Given the description of an element on the screen output the (x, y) to click on. 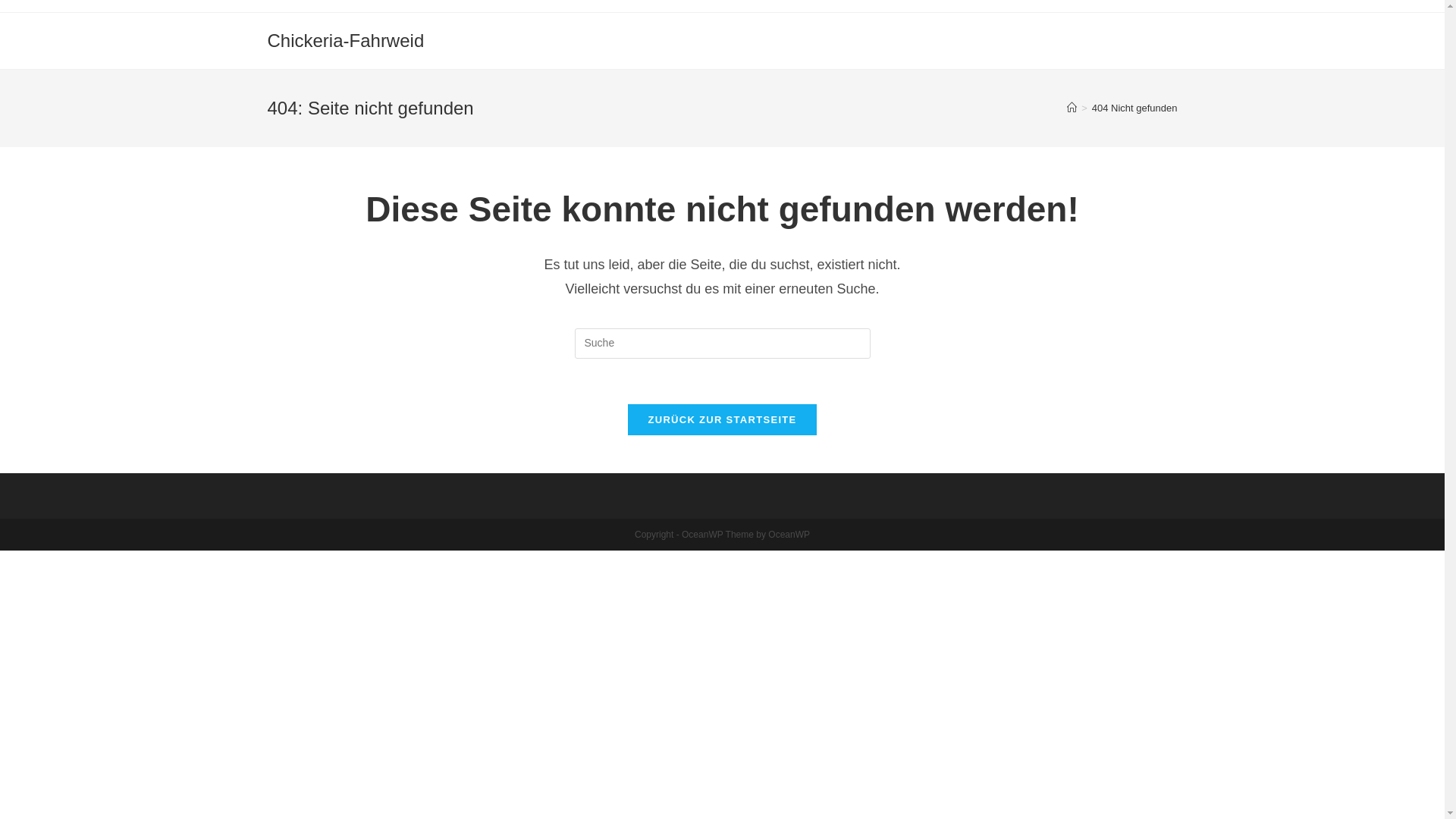
404 Nicht gefunden Element type: text (1134, 107)
Chickeria-Fahrweid Element type: text (344, 40)
